Given the description of an element on the screen output the (x, y) to click on. 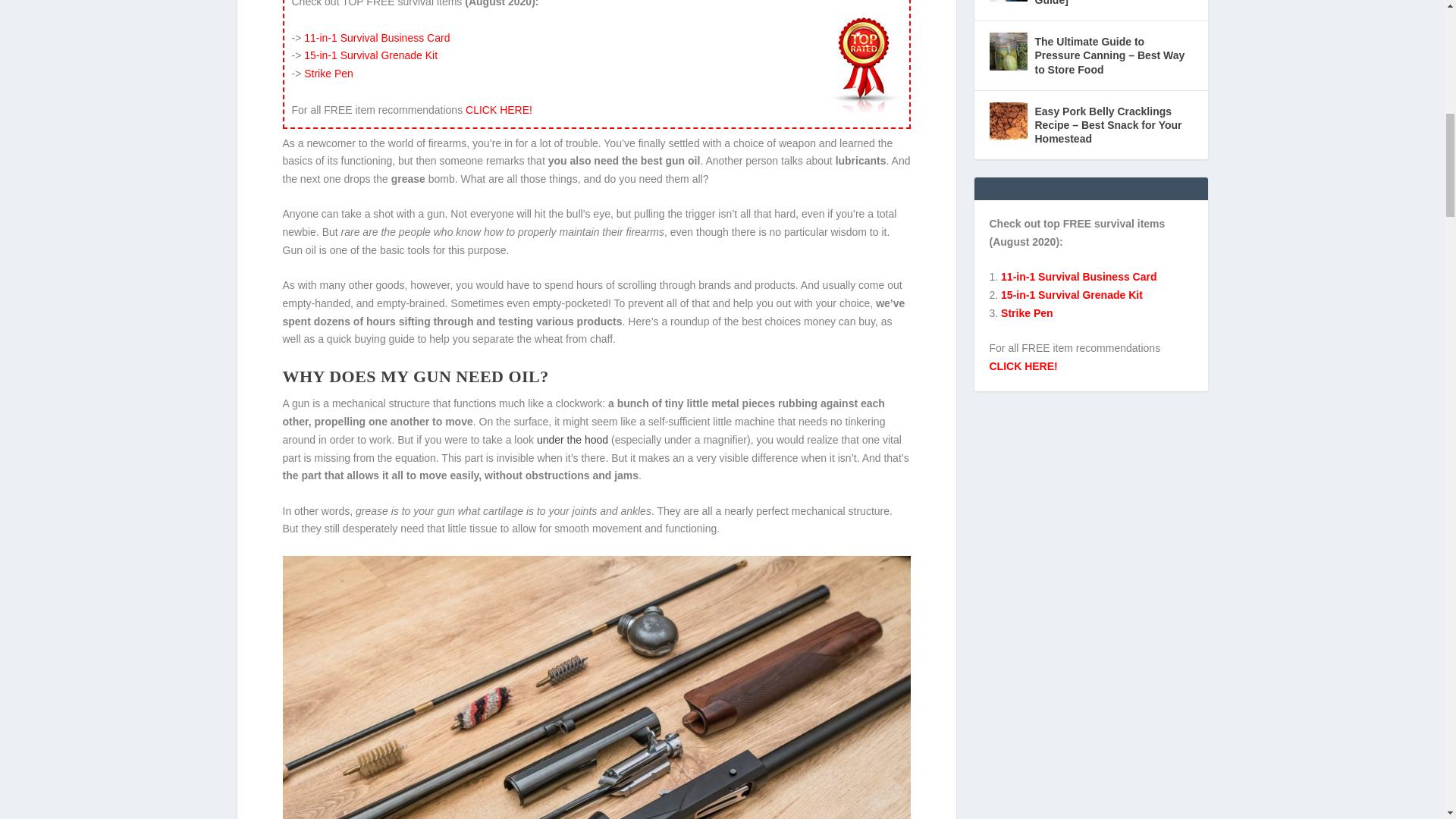
CLICK HERE! (498, 110)
under the hood (572, 439)
Strike Pen (328, 73)
15-in-1 Survival Grenade Kit (371, 55)
11-in-1 Survival Business Card (376, 37)
